Given the description of an element on the screen output the (x, y) to click on. 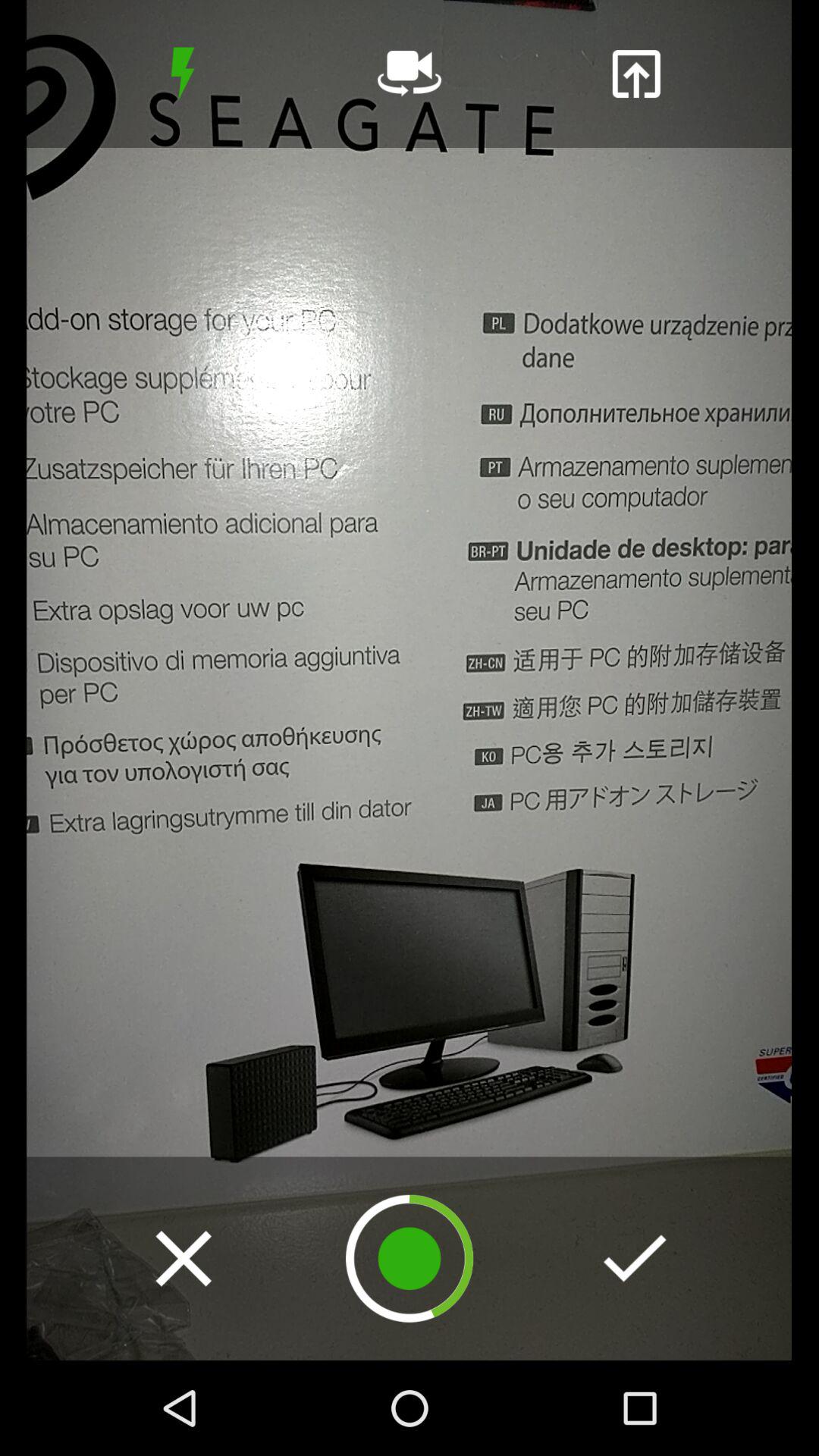
turn off icon at the bottom left corner (183, 1258)
